Given the description of an element on the screen output the (x, y) to click on. 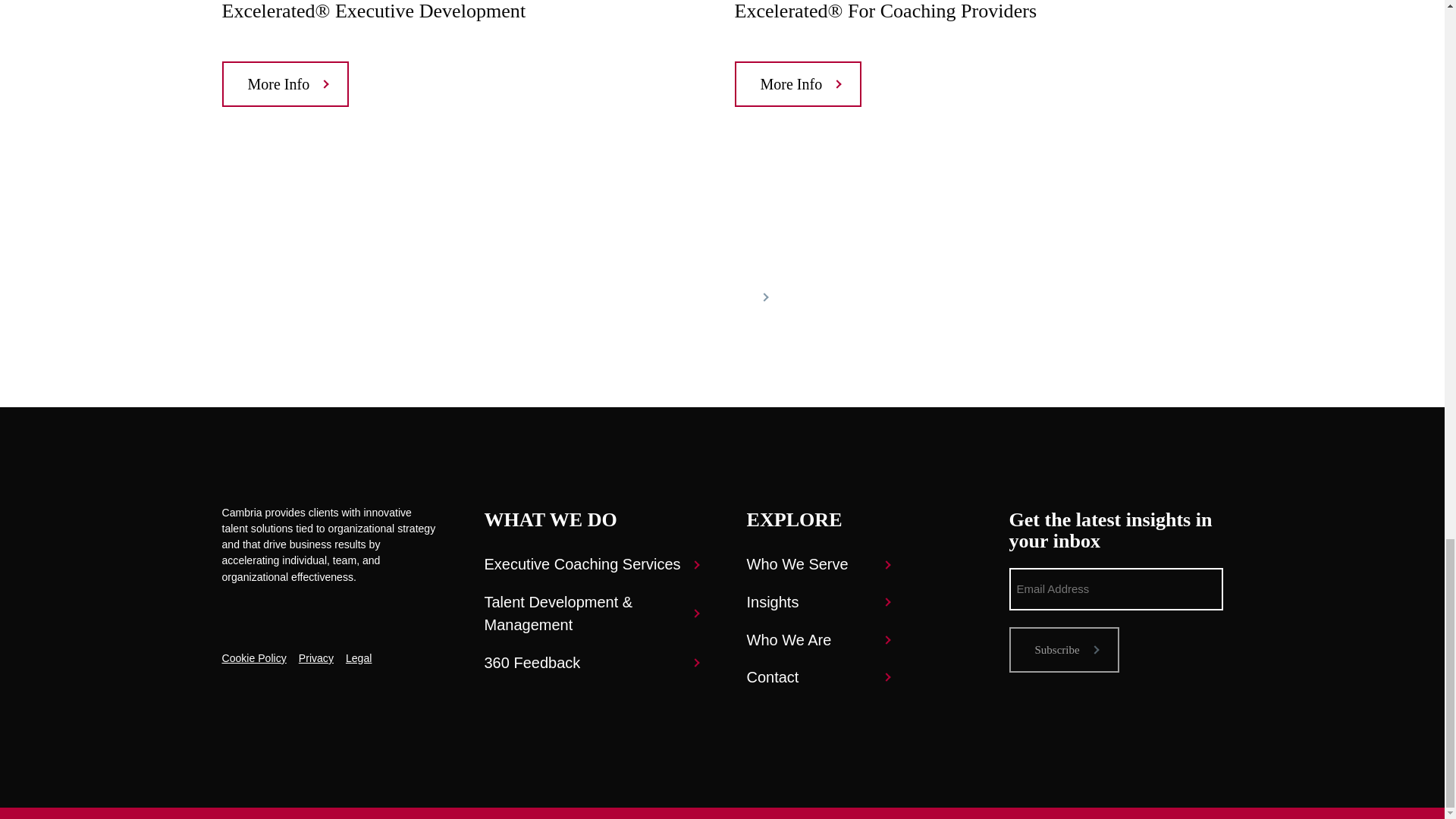
Contact Us (722, 297)
Legal (358, 658)
Subscribe (1063, 649)
More Info (285, 84)
Cookie Policy (253, 658)
More Info (797, 84)
Privacy (315, 658)
